Given the description of an element on the screen output the (x, y) to click on. 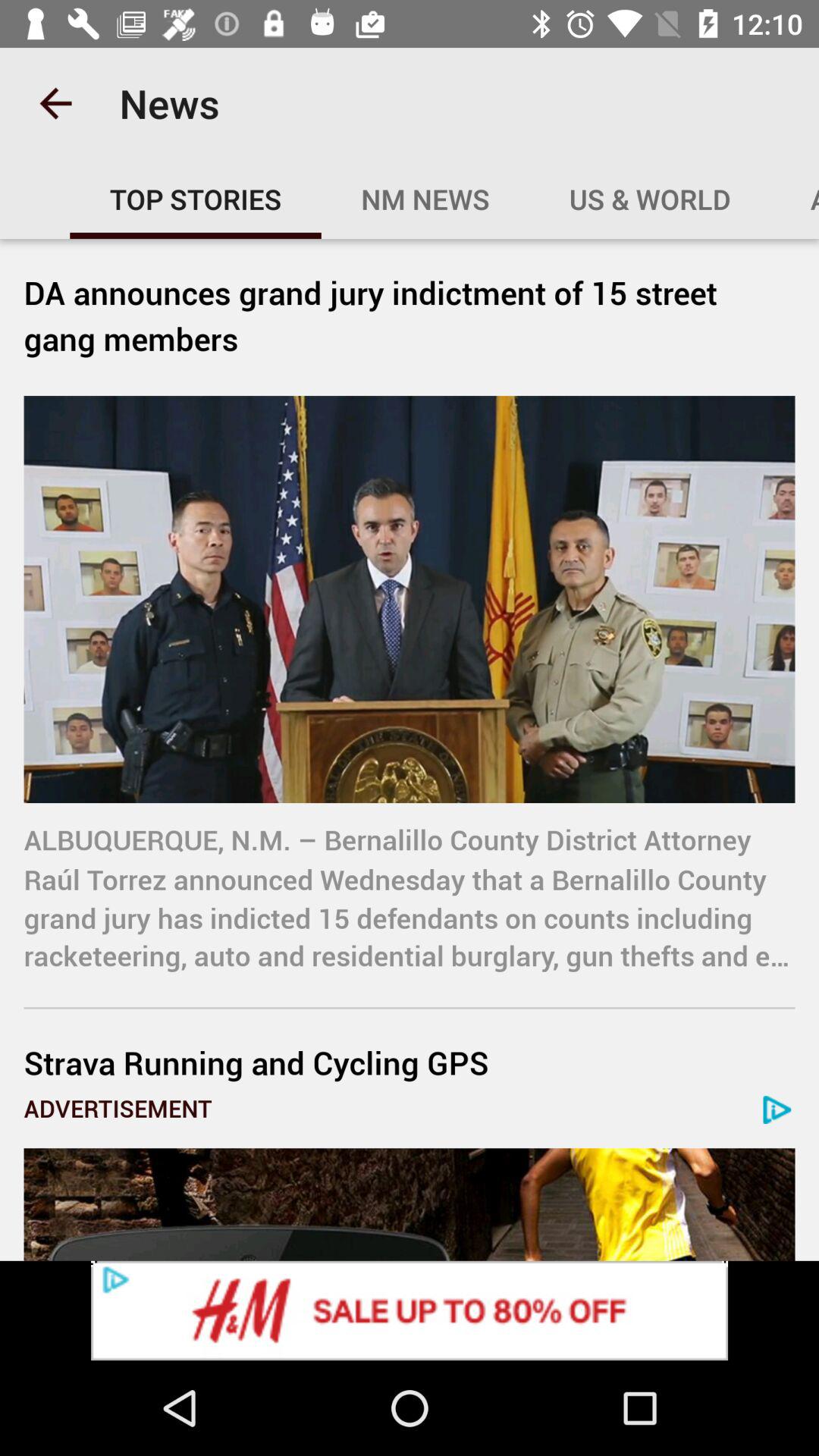
view advertisement (409, 1310)
